Given the description of an element on the screen output the (x, y) to click on. 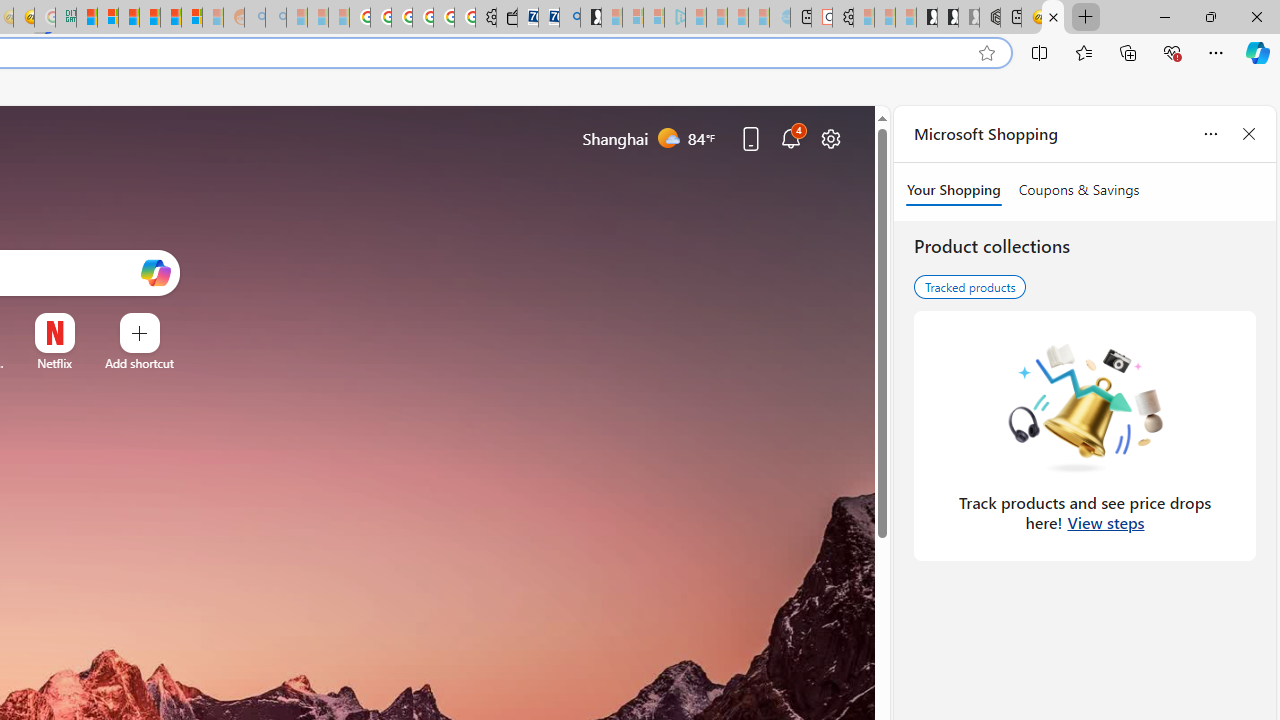
Netflix (54, 363)
